Given the description of an element on the screen output the (x, y) to click on. 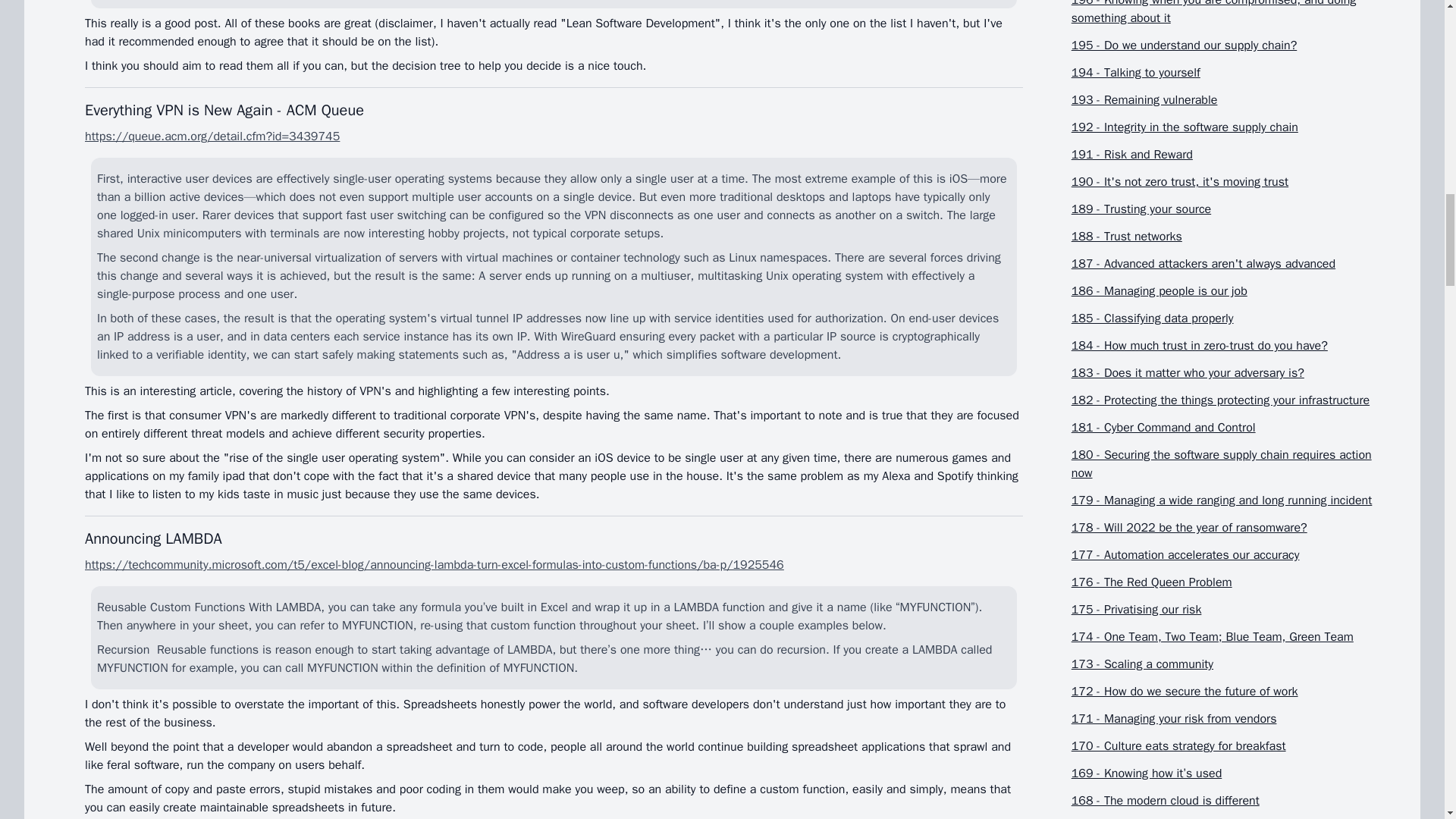
Everything VPN is New Again - ACM Queue (224, 109)
Announcing LAMBDA (153, 538)
